Given the description of an element on the screen output the (x, y) to click on. 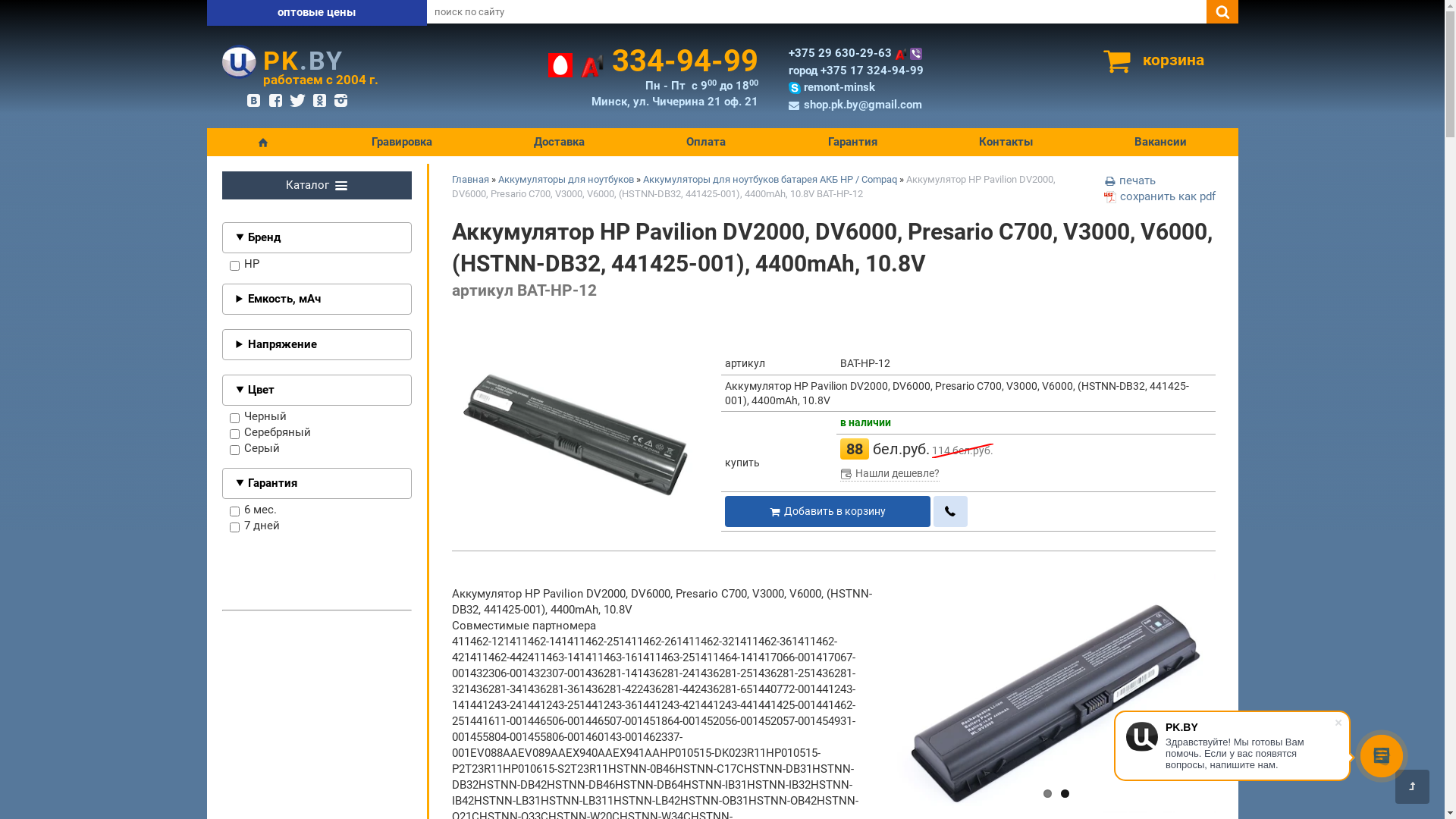
1 Element type: text (1047, 793)
2 Element type: text (1064, 793)
334-94-99 Element type: text (652, 68)
